Given the description of an element on the screen output the (x, y) to click on. 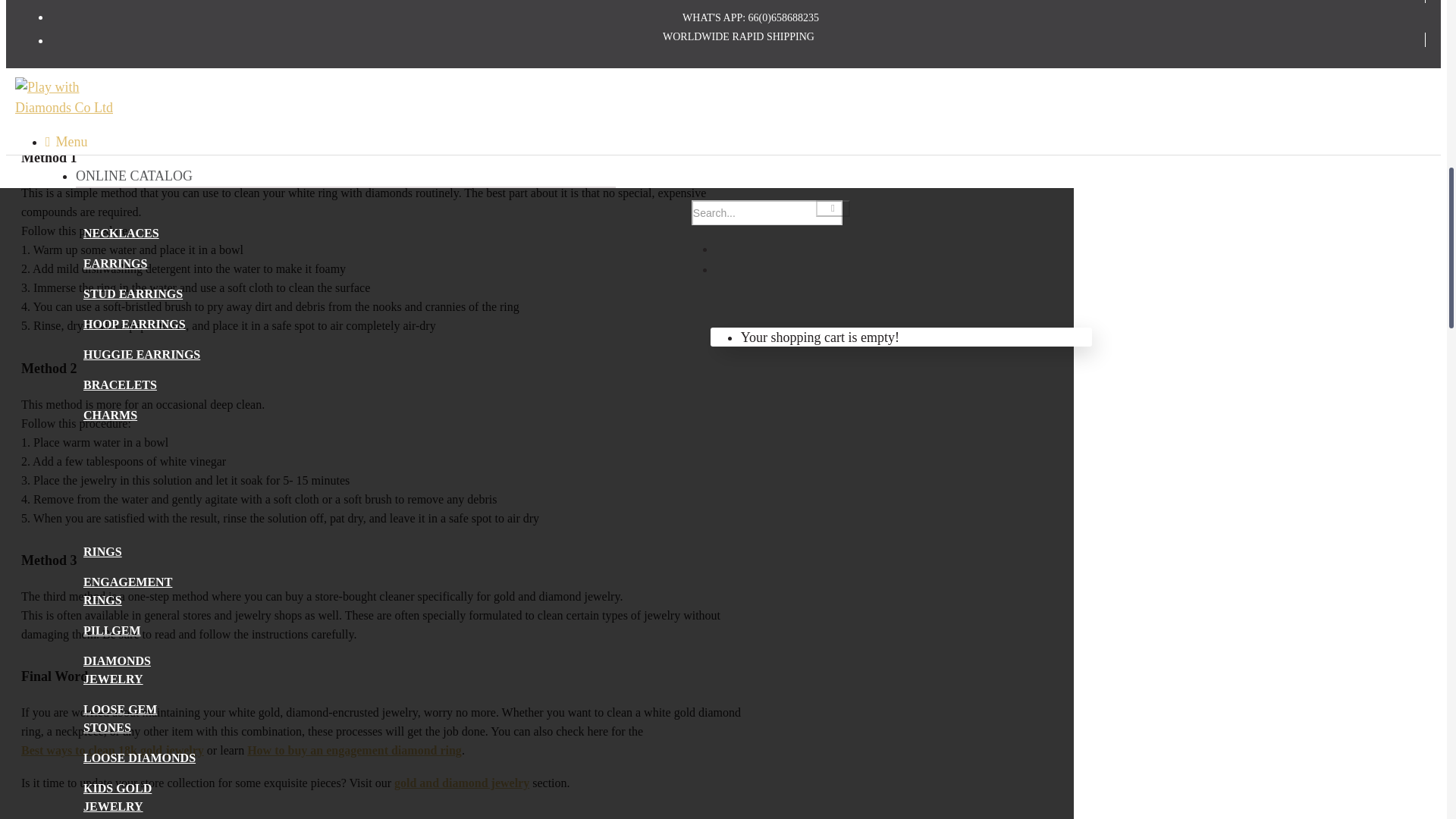
PILLGEM (111, 56)
DIAMONDS JEWELRY (143, 96)
CUSTOM GOLD JEWELRY (168, 637)
ENGAGEMENT RINGS (143, 20)
HELIX PIERCINGS (116, 475)
OUR FACTORY (133, 678)
NOSE RINGS (111, 572)
SEGMENT RINGS (113, 523)
LOOSE DIAMONDS (139, 183)
ABOUT US (120, 657)
BODY JEWELRY (113, 377)
LOOSE GEM STONES (143, 144)
BASIC PIERCINGS (116, 426)
FINDINGS (112, 612)
OUR TEAM (122, 698)
